Given the description of an element on the screen output the (x, y) to click on. 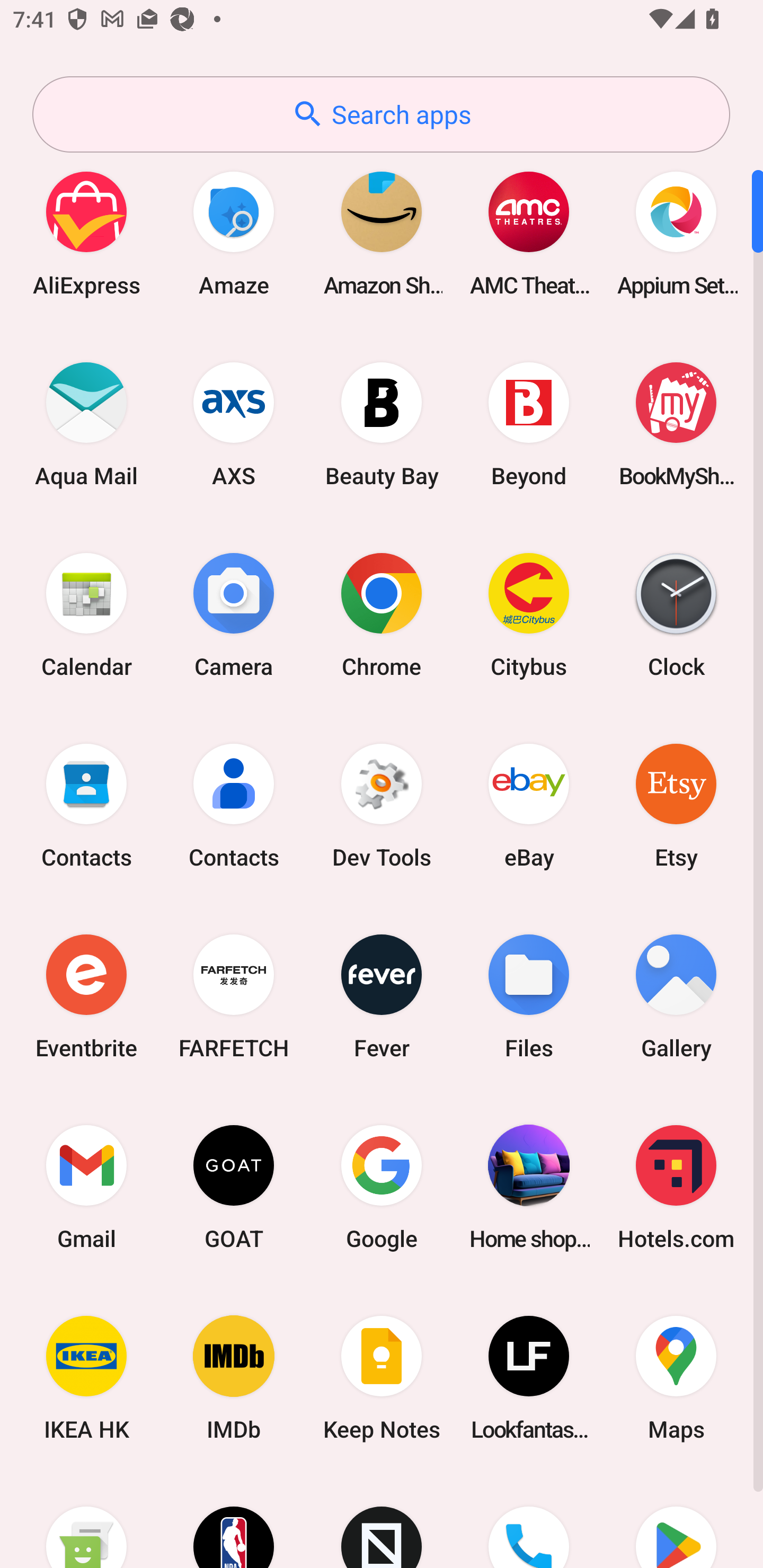
  Search apps (381, 114)
AliExpress (86, 233)
Amaze (233, 233)
Amazon Shopping (381, 233)
AMC Theatres (528, 233)
Appium Settings (676, 233)
Aqua Mail (86, 424)
AXS (233, 424)
Beauty Bay (381, 424)
Beyond (528, 424)
BookMyShow (676, 424)
Calendar (86, 614)
Camera (233, 614)
Chrome (381, 614)
Citybus (528, 614)
Clock (676, 614)
Contacts (86, 805)
Contacts (233, 805)
Dev Tools (381, 805)
eBay (528, 805)
Etsy (676, 805)
Eventbrite (86, 996)
FARFETCH (233, 996)
Fever (381, 996)
Files (528, 996)
Gallery (676, 996)
Gmail (86, 1186)
GOAT (233, 1186)
Google (381, 1186)
Home shopping (528, 1186)
Hotels.com (676, 1186)
IKEA HK (86, 1377)
IMDb (233, 1377)
Keep Notes (381, 1377)
Lookfantastic (528, 1377)
Maps (676, 1377)
Messaging (86, 1520)
NBA (233, 1520)
Novelship (381, 1520)
Phone (528, 1520)
Play Store (676, 1520)
